Given the description of an element on the screen output the (x, y) to click on. 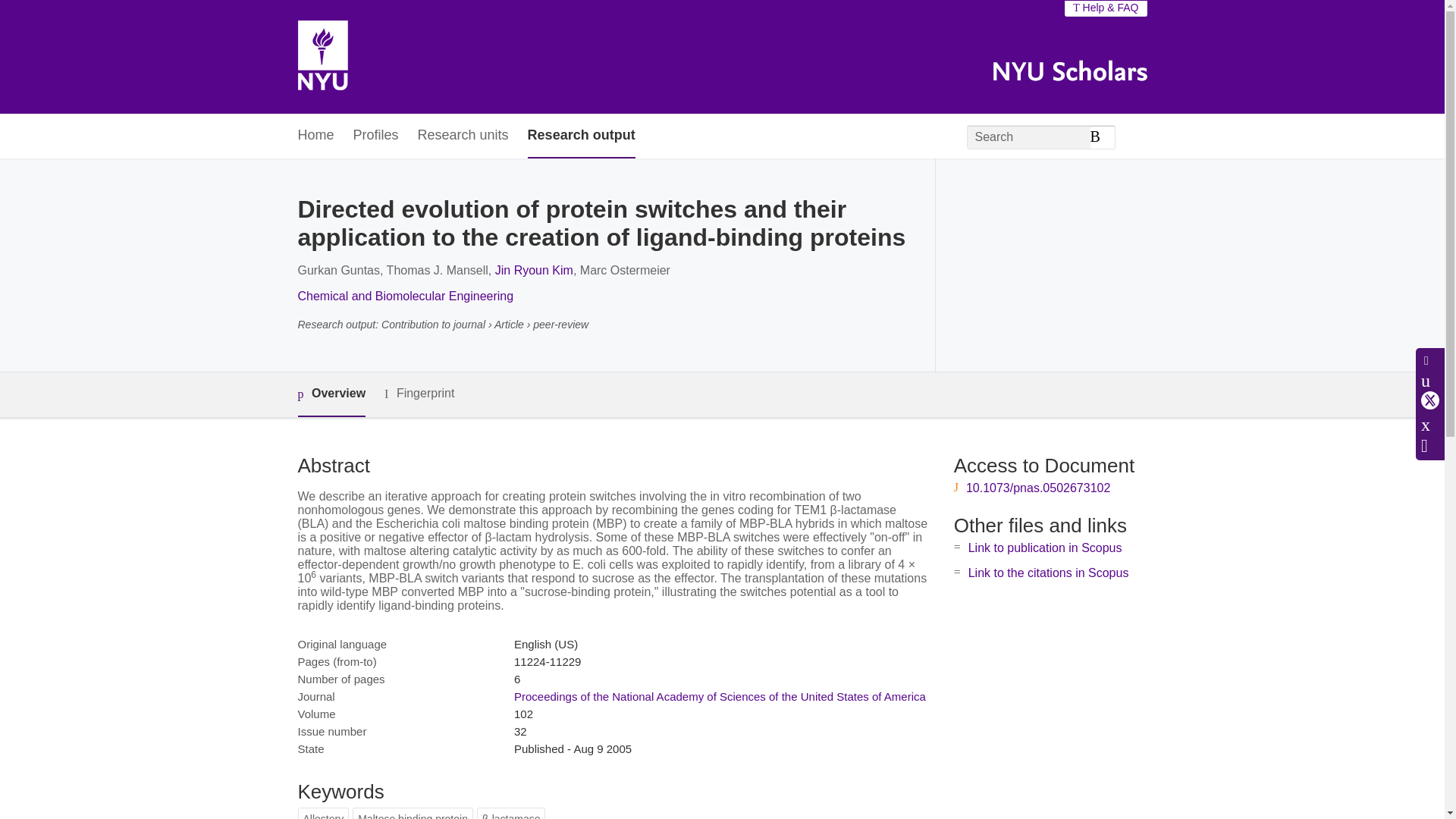
Research units (462, 135)
Profiles (375, 135)
Link to the citations in Scopus (1048, 572)
Overview (331, 394)
Link to publication in Scopus (1045, 547)
Research output (580, 135)
Fingerprint (419, 393)
Jin Ryoun Kim (534, 269)
Chemical and Biomolecular Engineering (405, 295)
